Given the description of an element on the screen output the (x, y) to click on. 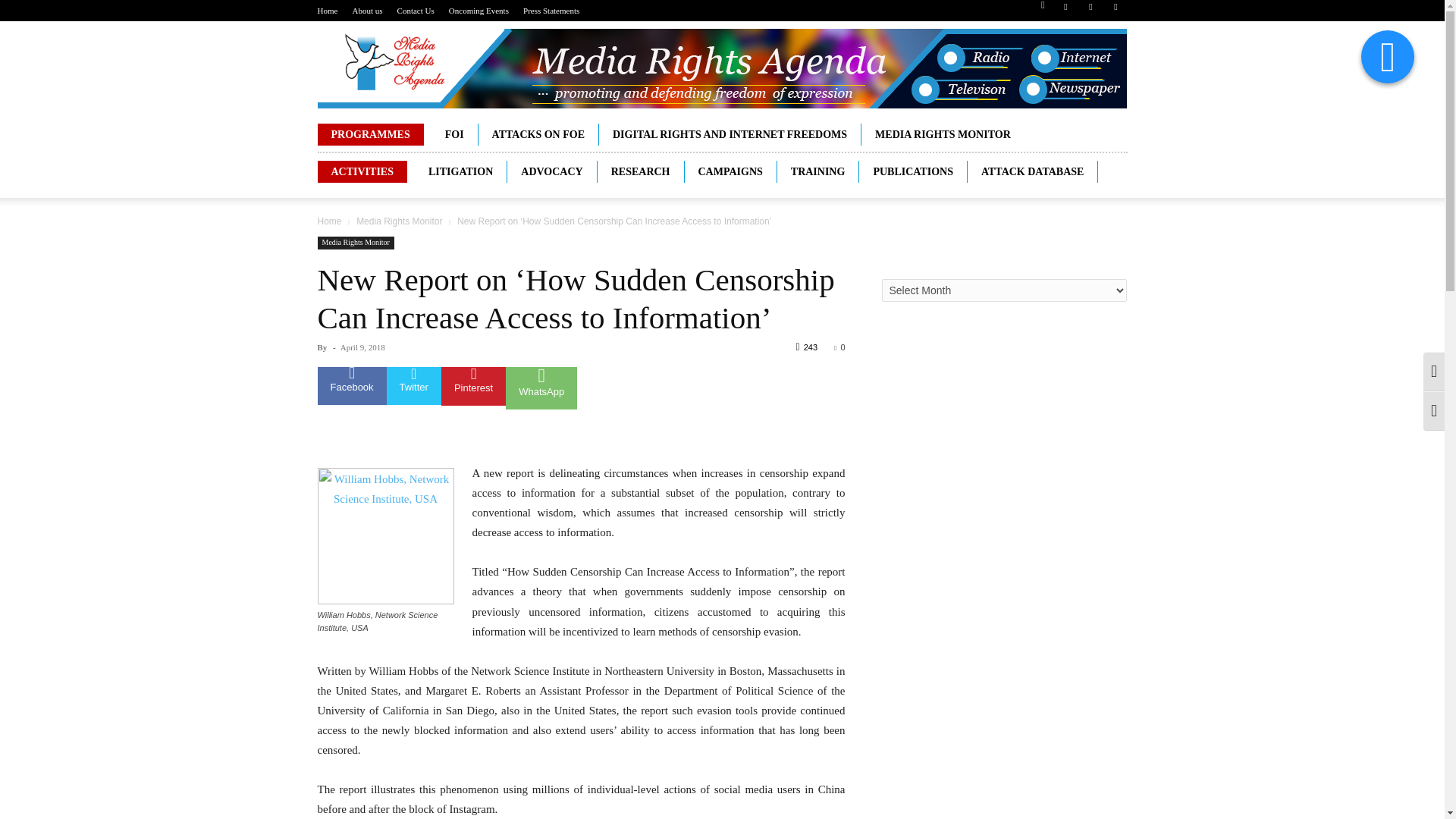
Home (327, 10)
Oncoming Events (478, 10)
Contact Us (415, 10)
Search (1085, 64)
About us (366, 10)
Press Statements (550, 10)
